Given the description of an element on the screen output the (x, y) to click on. 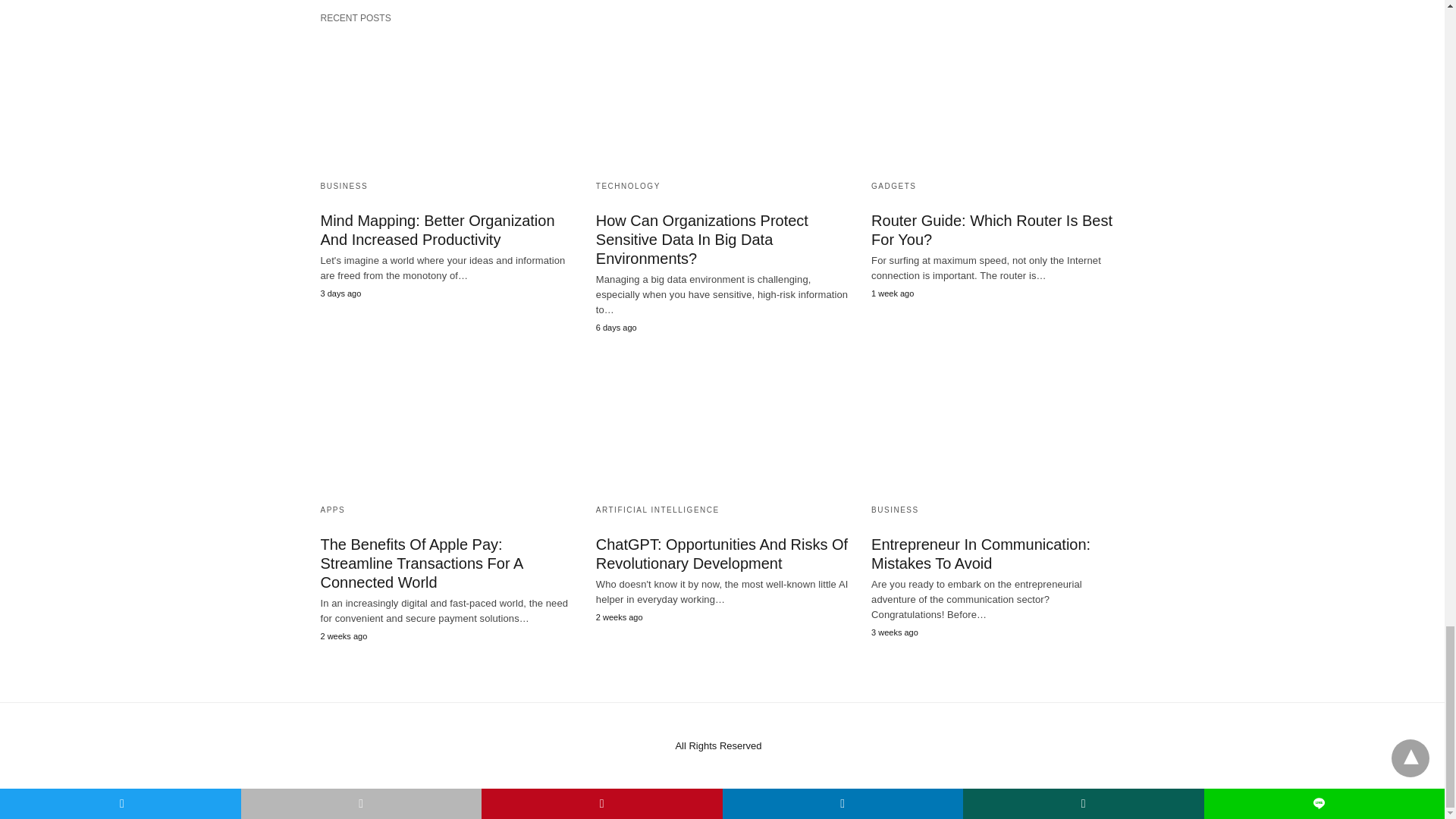
Mind Mapping: Better Organization And Increased Productivity (446, 99)
BUSINESS (344, 185)
Entrepreneur In Communication: Mistakes To Avoid (997, 424)
Mind Mapping: Better Organization And Increased Productivity (437, 230)
TECHNOLOGY (628, 185)
Router Guide: Which Router Is Best For You? (997, 99)
